Given the description of an element on the screen output the (x, y) to click on. 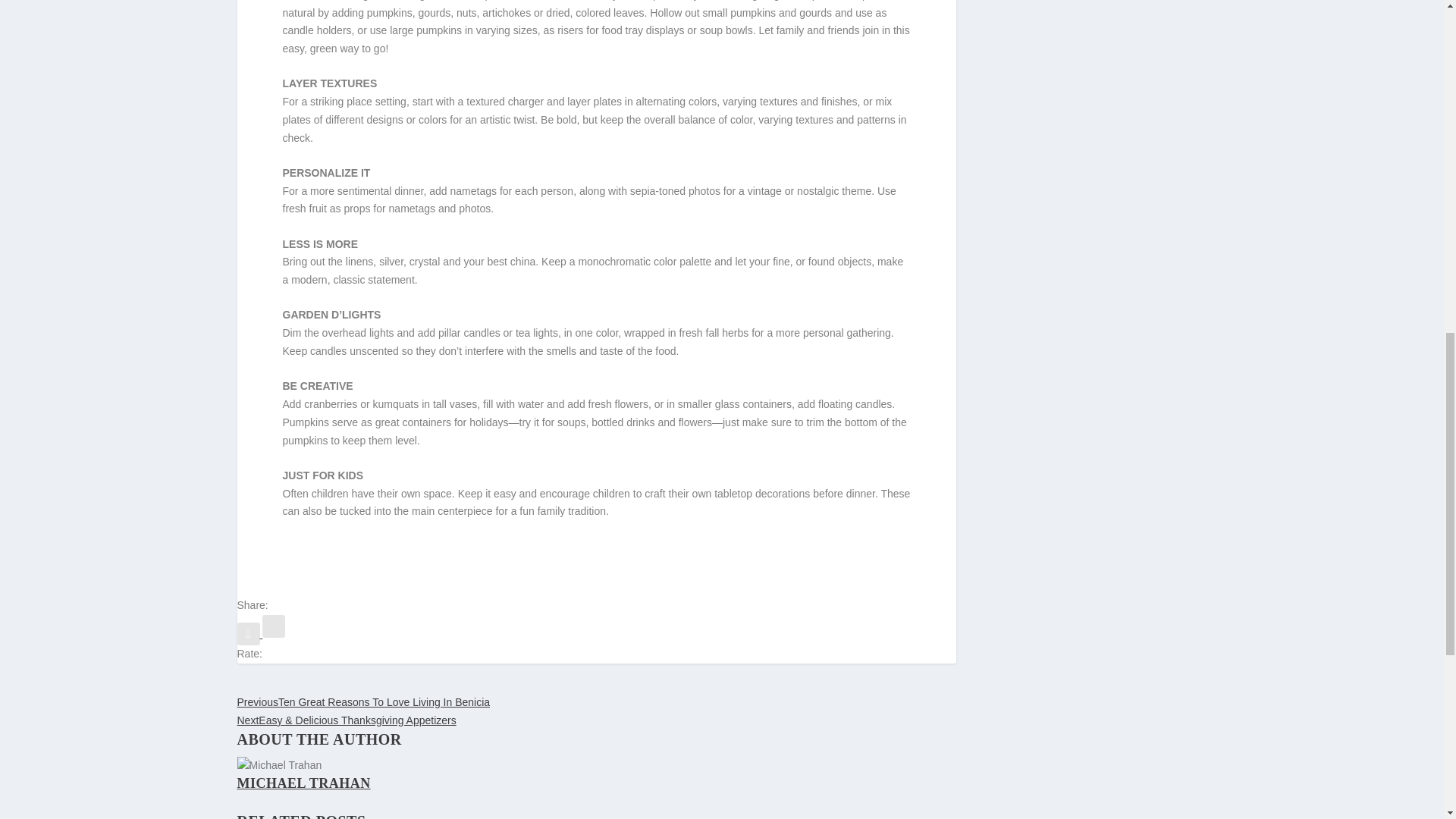
View all posts by Michael Trahan (302, 783)
MICHAEL TRAHAN (302, 783)
PreviousTen Great Reasons To Love Living In Benicia (362, 702)
